Given the description of an element on the screen output the (x, y) to click on. 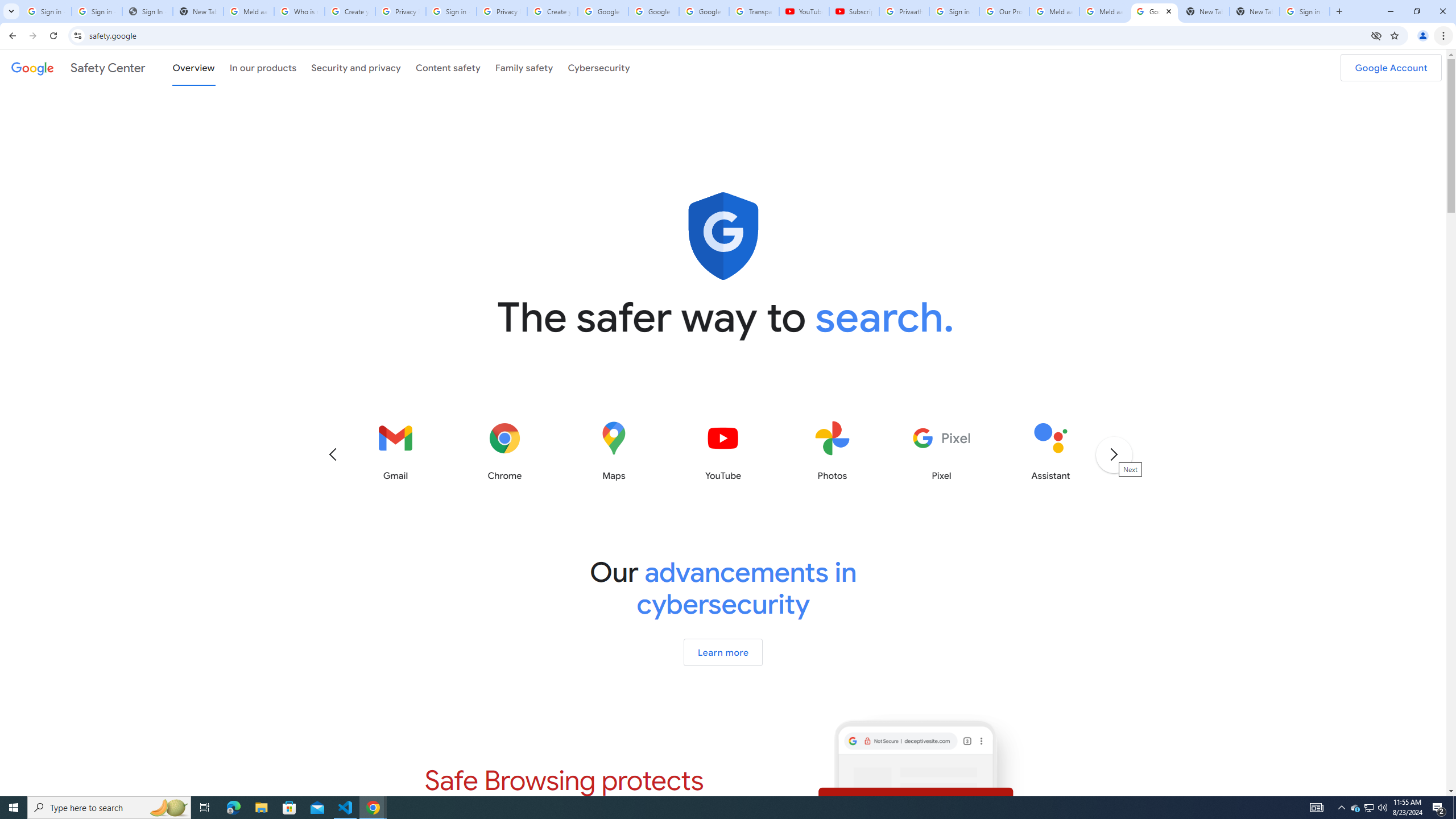
Security and privacy (356, 67)
Content safety (447, 67)
Safety Center (78, 67)
YouTube (804, 11)
Sign in - Google Accounts (450, 11)
Sign in - Google Accounts (954, 11)
Sign In - USA TODAY (146, 11)
